Given the description of an element on the screen output the (x, y) to click on. 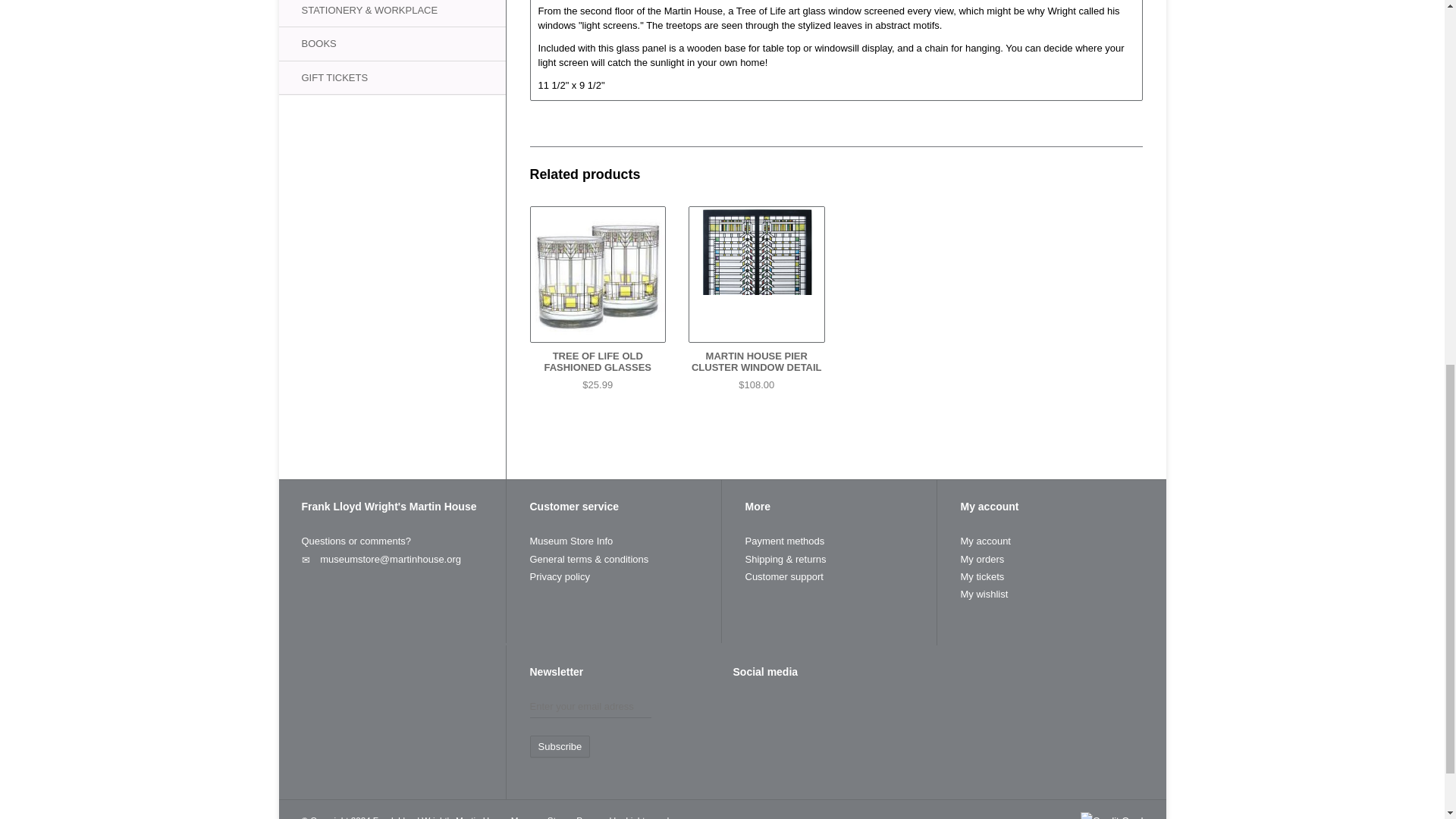
GIFT TICKETS (392, 77)
BOOKS (392, 43)
Books (392, 43)
